Given the description of an element on the screen output the (x, y) to click on. 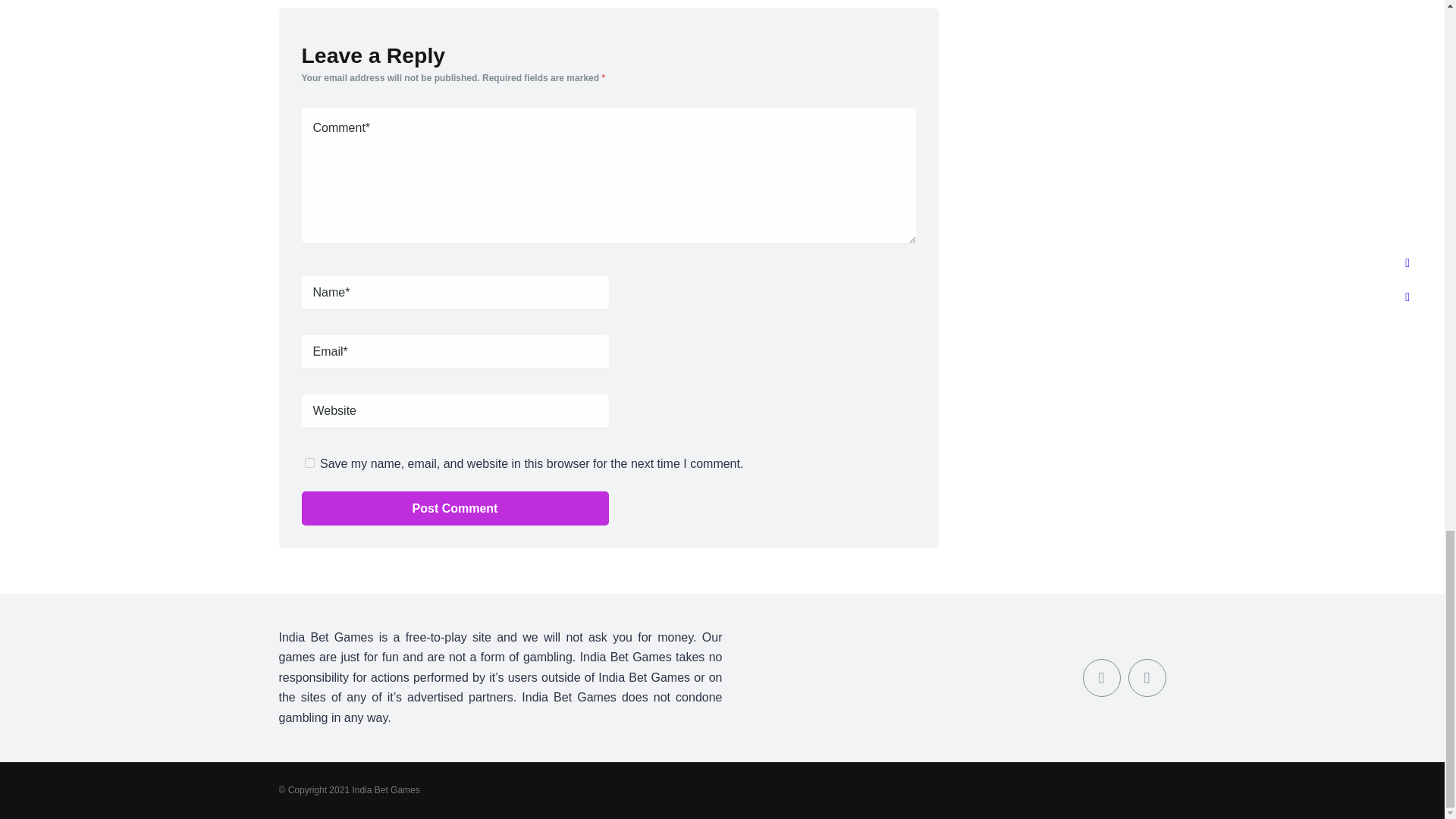
Twitter (1147, 677)
yes (309, 461)
Post Comment (454, 508)
Post Comment (454, 508)
Facebook (1102, 677)
